Given the description of an element on the screen output the (x, y) to click on. 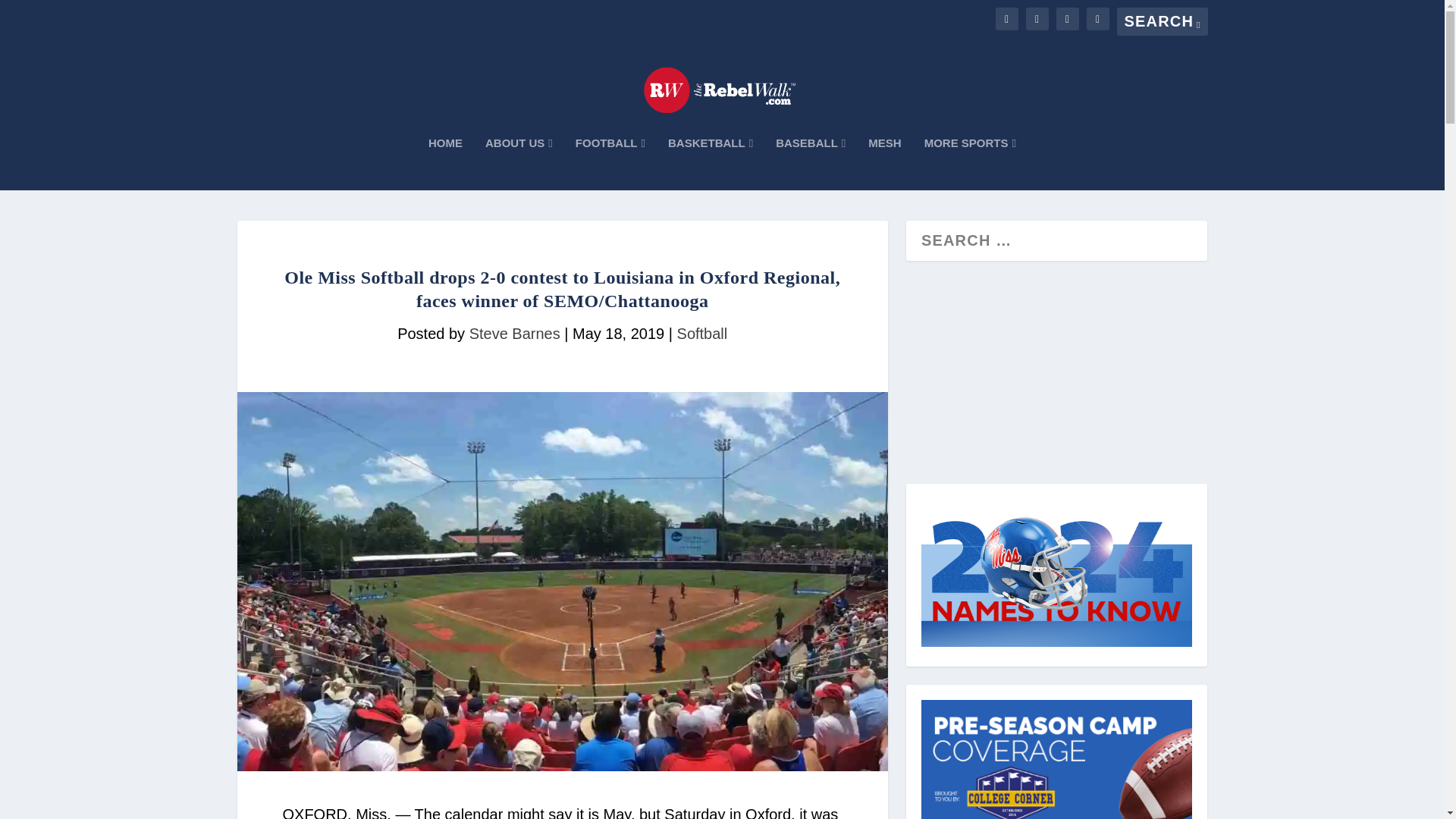
BASKETBALL (710, 163)
ABOUT US (518, 163)
About The Rebel Walk (518, 163)
Search for: (1161, 21)
FOOTBALL (610, 163)
